Given the description of an element on the screen output the (x, y) to click on. 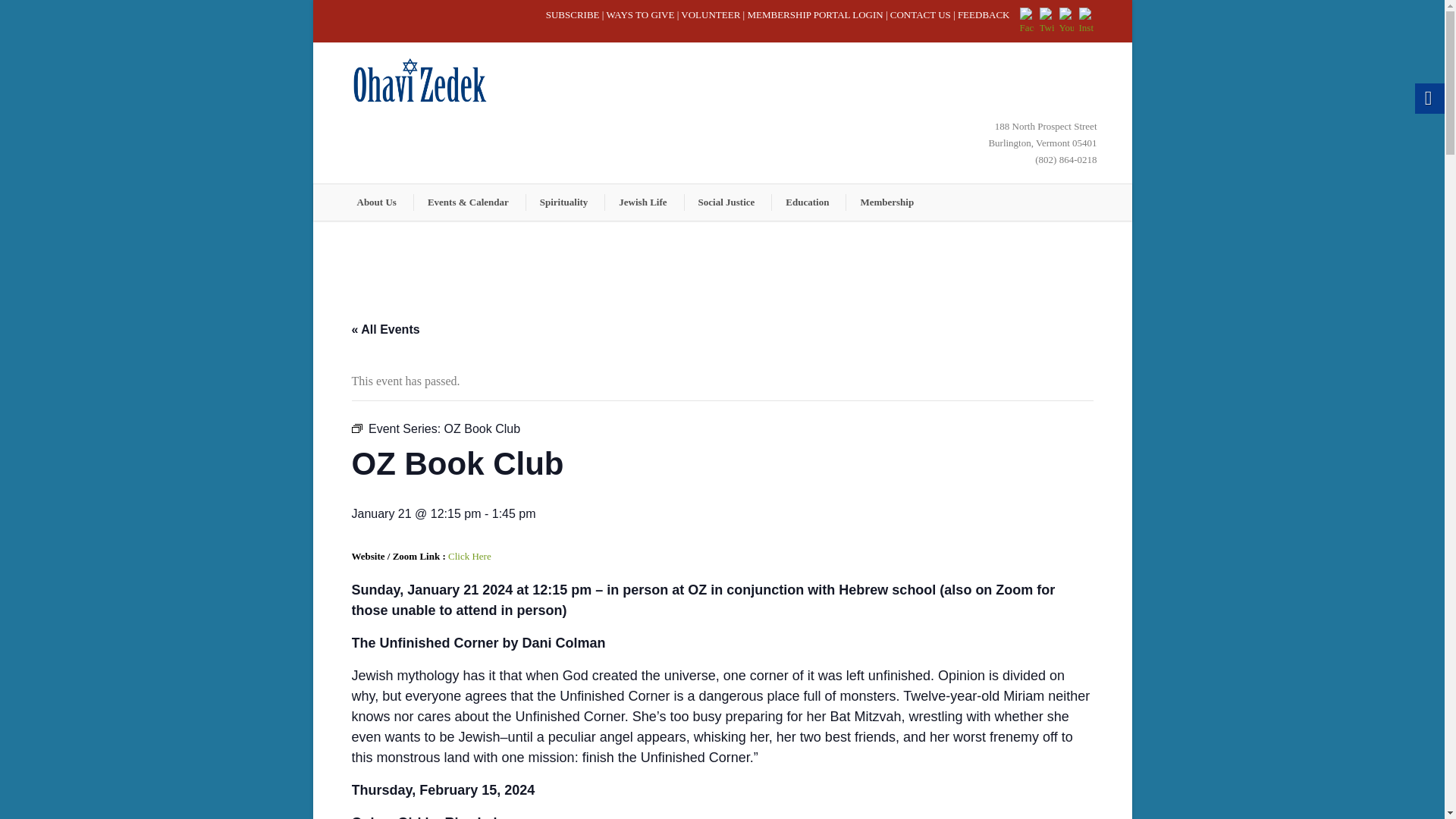
WAYS TO GIVE (639, 14)
SUBSCRIBE (572, 14)
MEMBERSHIP PORTAL LOGIN (814, 14)
VOLUNTEER (710, 14)
FEEDBACK (984, 14)
CONTACT US (919, 14)
